Given the description of an element on the screen output the (x, y) to click on. 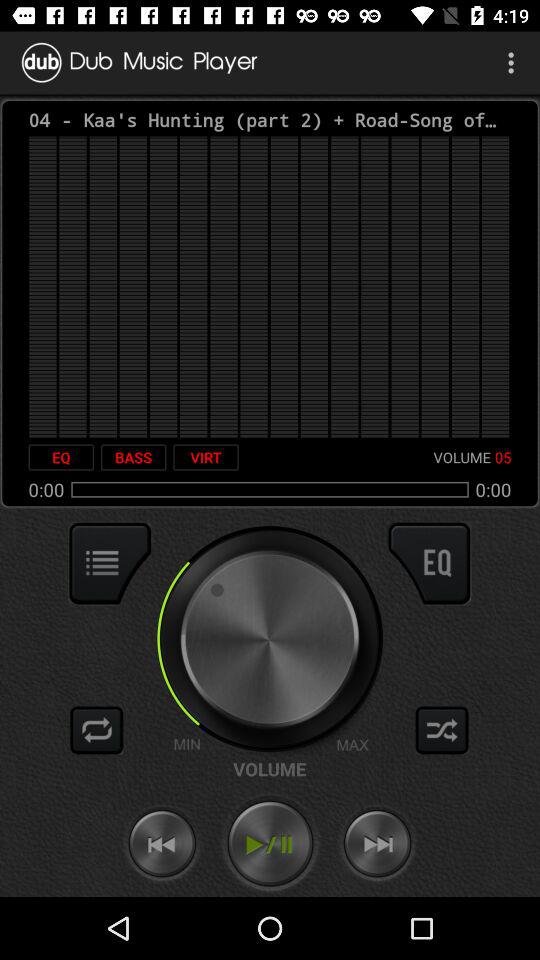
repeat (97, 730)
